Given the description of an element on the screen output the (x, y) to click on. 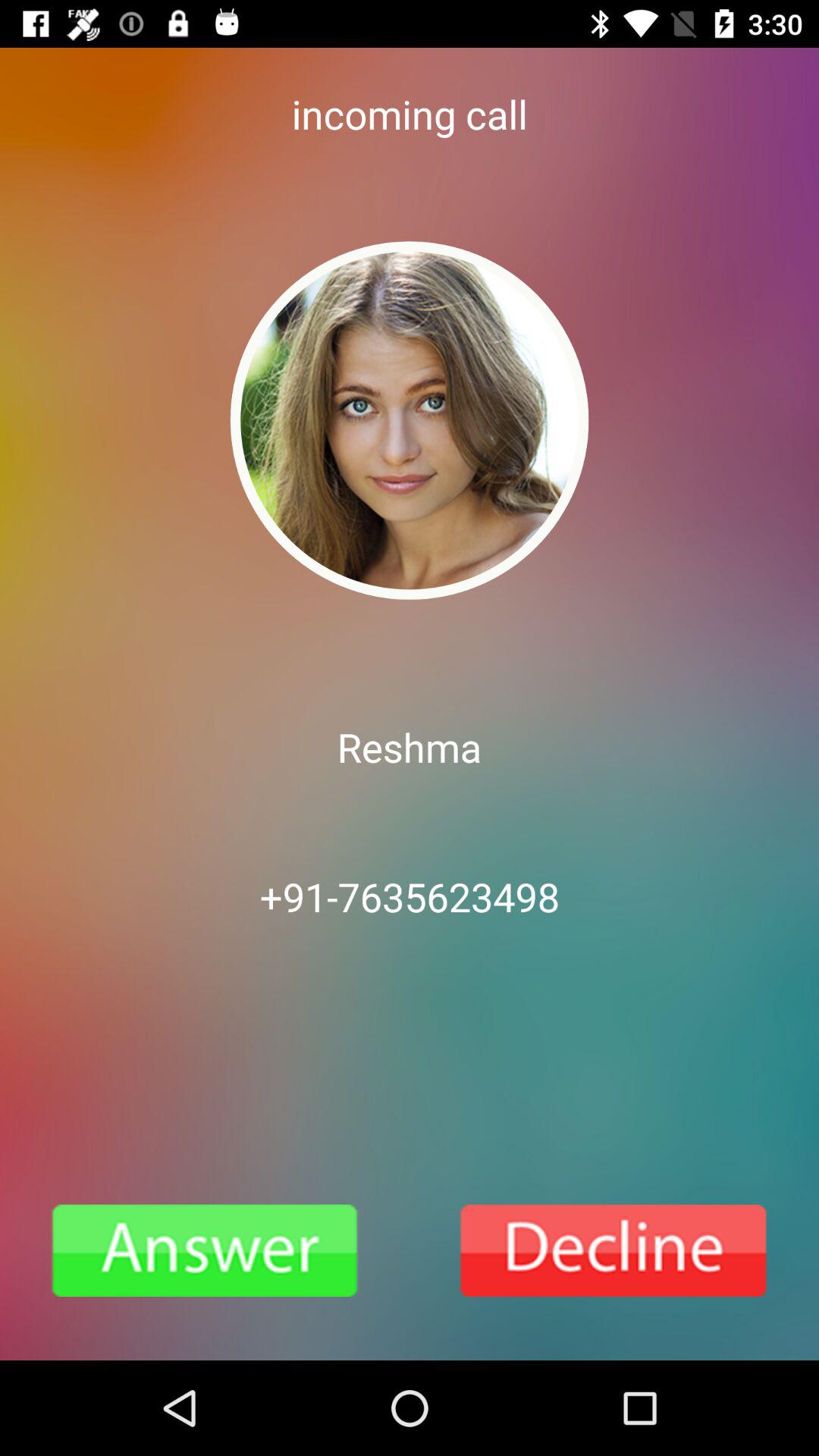
click icon below +91-7635623498 icon (614, 1250)
